Given the description of an element on the screen output the (x, y) to click on. 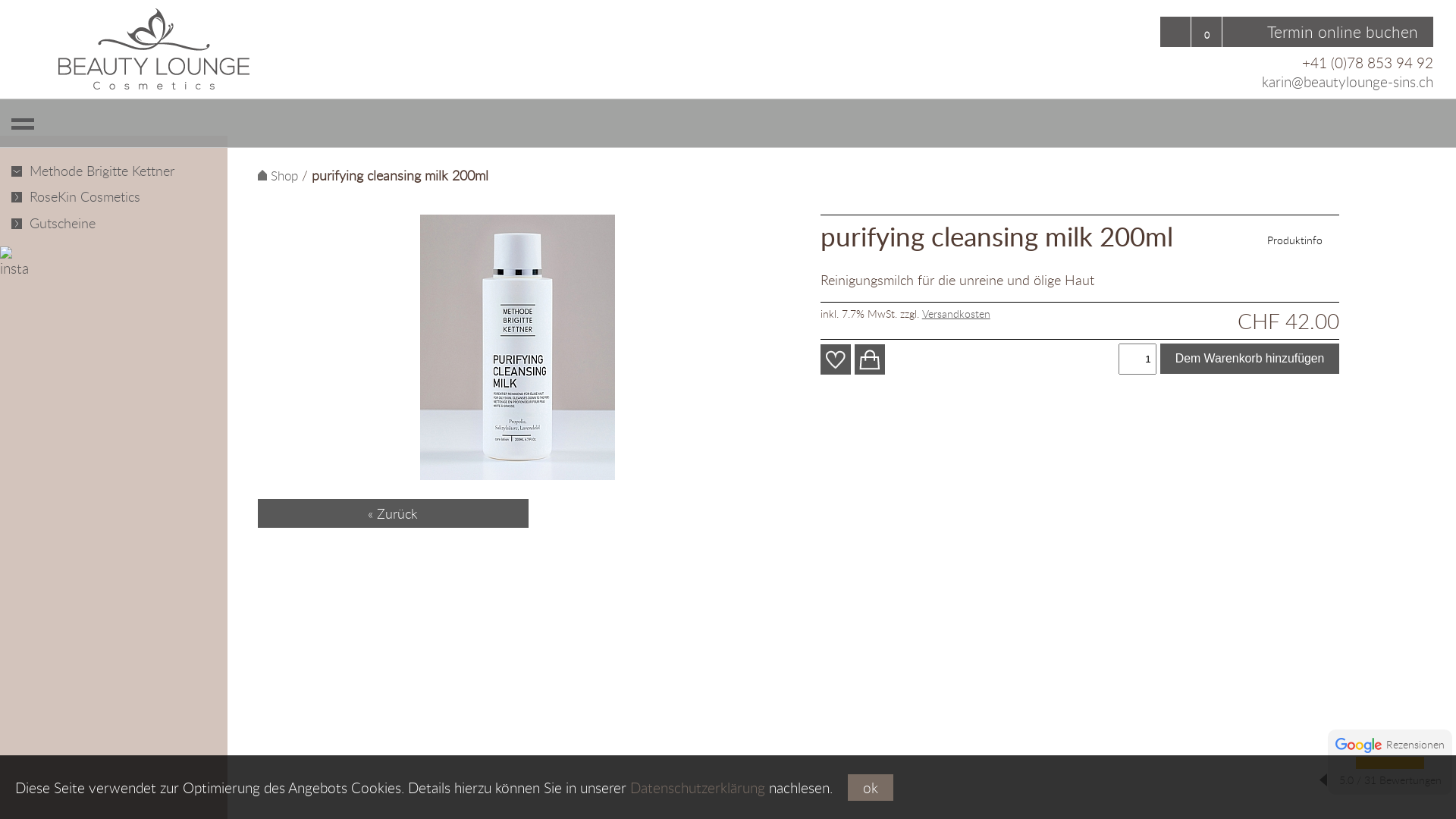
0 Element type: text (1206, 31)
Rezensionen
5.0 / 31 Bewertungen Element type: text (1389, 762)
Produktinfo Element type: text (1303, 239)
purifying cleansing milk 200ml Element type: hover (517, 347)
5.0 Element type: hover (1376, 762)
5.0 Element type: hover (1403, 762)
Versandkosten Element type: text (956, 313)
Shop Element type: text (277, 175)
5.0 Element type: hover (1389, 762)
Suche Element type: hover (1175, 31)
RoseKin Cosmetics Element type: text (94, 196)
Warenkorb Element type: hover (869, 359)
Methode Brigitte Kettner Element type: text (94, 170)
Auf den Merkzettel setzen Element type: hover (835, 359)
Benutzerkonto Element type: hover (1237, 31)
ok Element type: text (870, 787)
Gutscheine Element type: text (94, 223)
5.0 Element type: hover (1362, 762)
Termin online buchen Element type: text (1342, 31)
karin@beautylounge-sins.ch Element type: text (1347, 81)
5.0 Element type: hover (1417, 762)
